Given the description of an element on the screen output the (x, y) to click on. 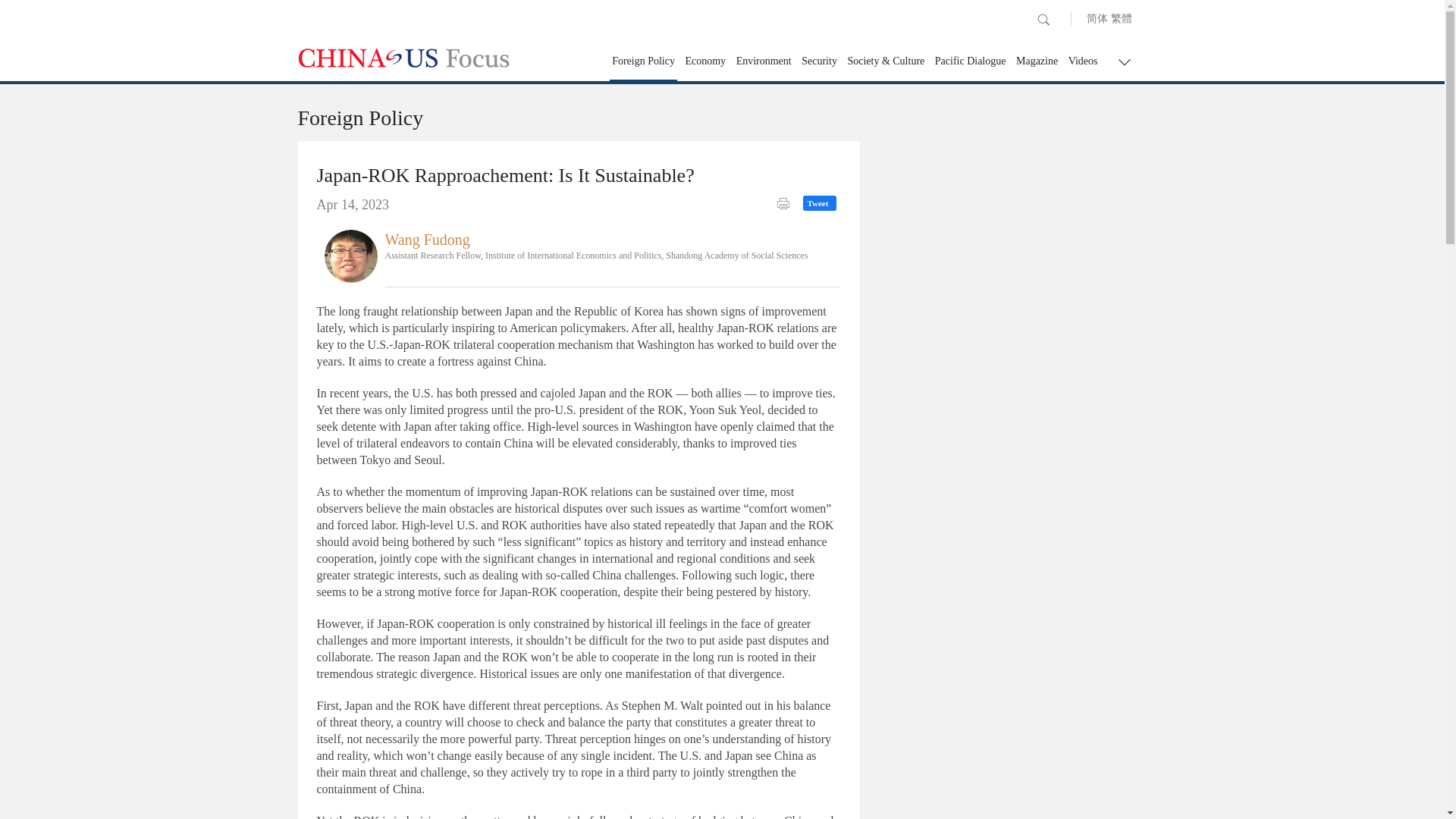
Wang Fudong (350, 255)
Wang Fudong (427, 239)
Search (1043, 19)
CHINA US Focus (403, 58)
